Given the description of an element on the screen output the (x, y) to click on. 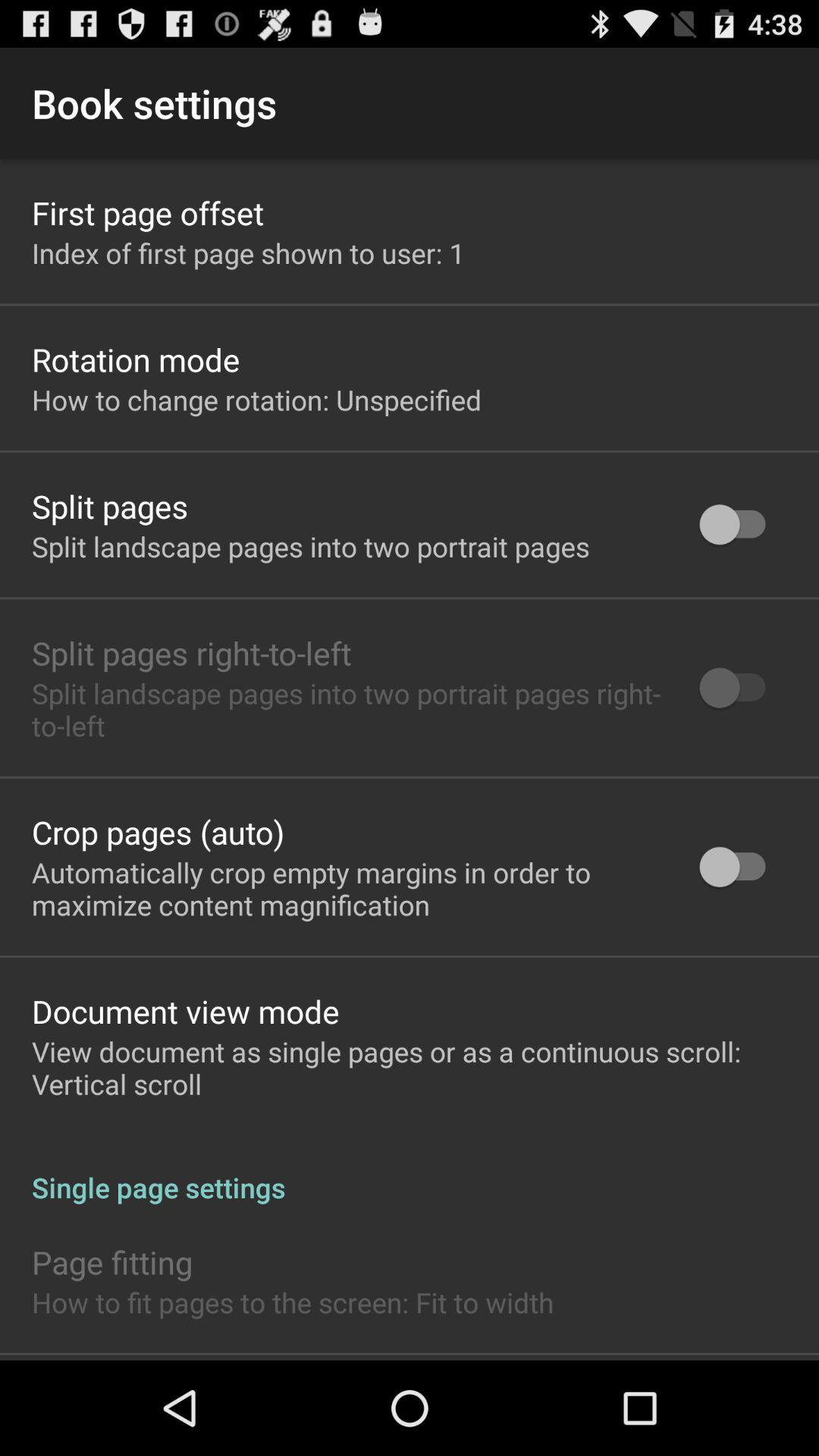
press automatically crop empty item (345, 888)
